Given the description of an element on the screen output the (x, y) to click on. 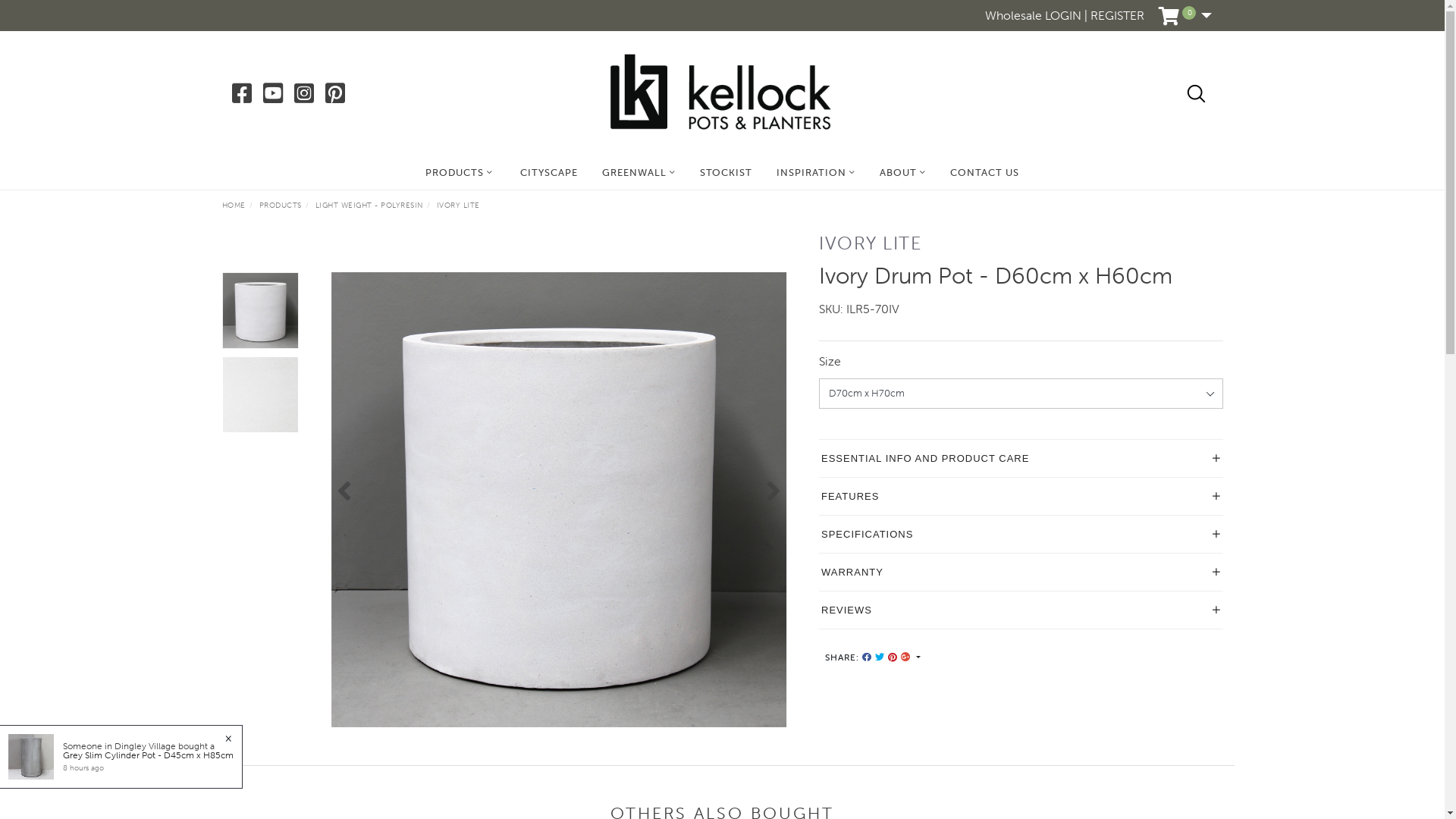
PRODUCTS Element type: text (458, 172)
PRODUCTS Element type: text (280, 205)
FEATURES Element type: text (1021, 495)
REGISTER Element type: text (1117, 16)
HOME Element type: text (232, 205)
Large View Element type: hover (558, 499)
IVORY LITE Element type: text (870, 243)
LIGHT WEIGHT - POLYRESIN Element type: text (369, 205)
REVIEWS Element type: text (1021, 609)
LOGIN Element type: text (1062, 16)
STOCKIST Element type: text (725, 172)
SPECIFICATIONS Element type: text (1021, 533)
SHARE: Element type: text (872, 657)
CITYSCAPE Element type: text (548, 172)
Large View Element type: hover (260, 394)
ABOUT Element type: text (902, 172)
WARRANTY Element type: text (1021, 571)
IVORY LITE Element type: text (458, 205)
CONTACT US Element type: text (984, 172)
0 Element type: text (1184, 17)
GREENWALL Element type: text (638, 172)
ESSENTIAL INFO AND PRODUCT CARE Element type: text (1021, 457)
Kellock Pots & Planters Element type: hover (720, 92)
INSPIRATION Element type: text (815, 172)
